Given the description of an element on the screen output the (x, y) to click on. 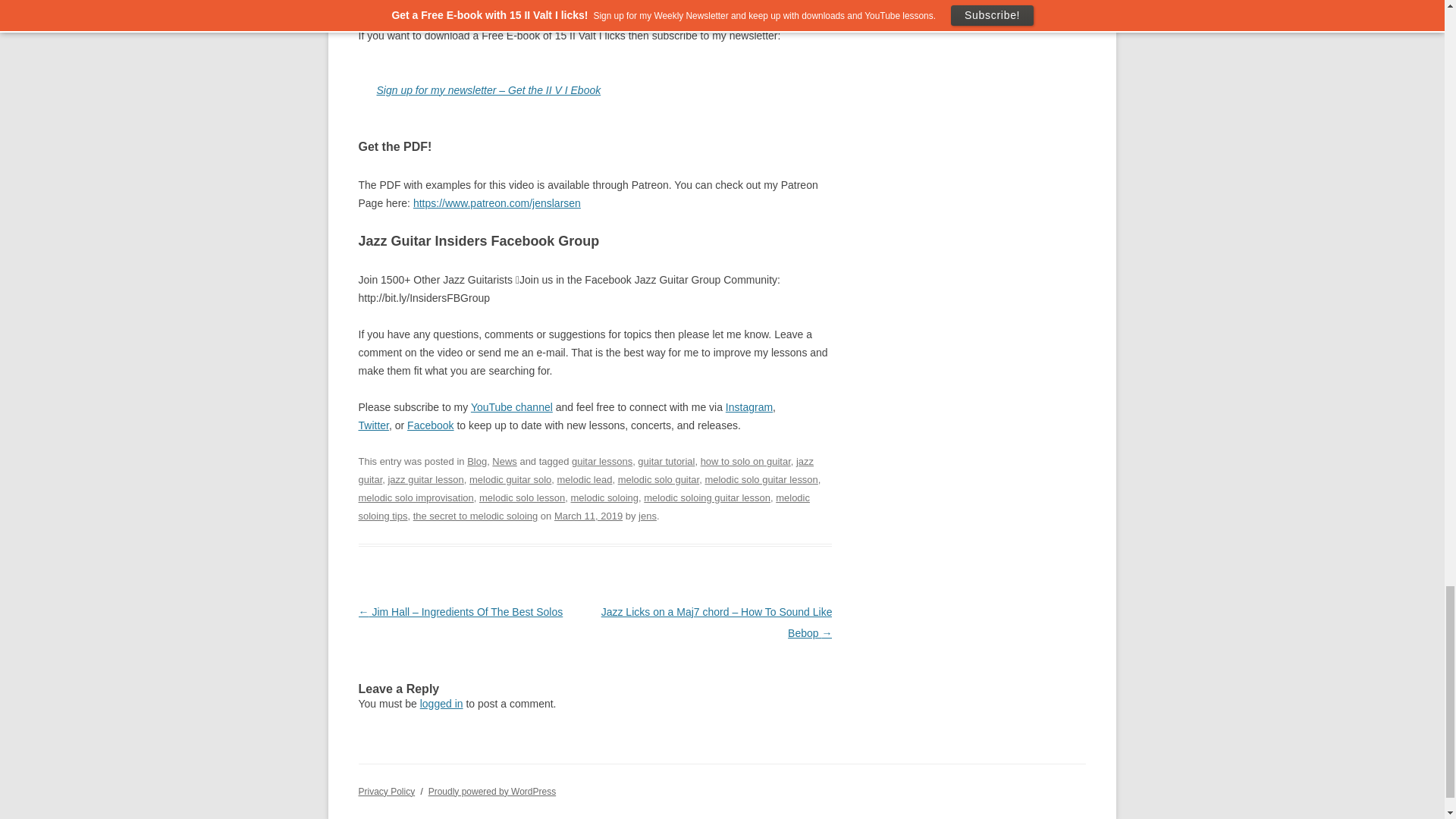
19:09 (588, 515)
